Given the description of an element on the screen output the (x, y) to click on. 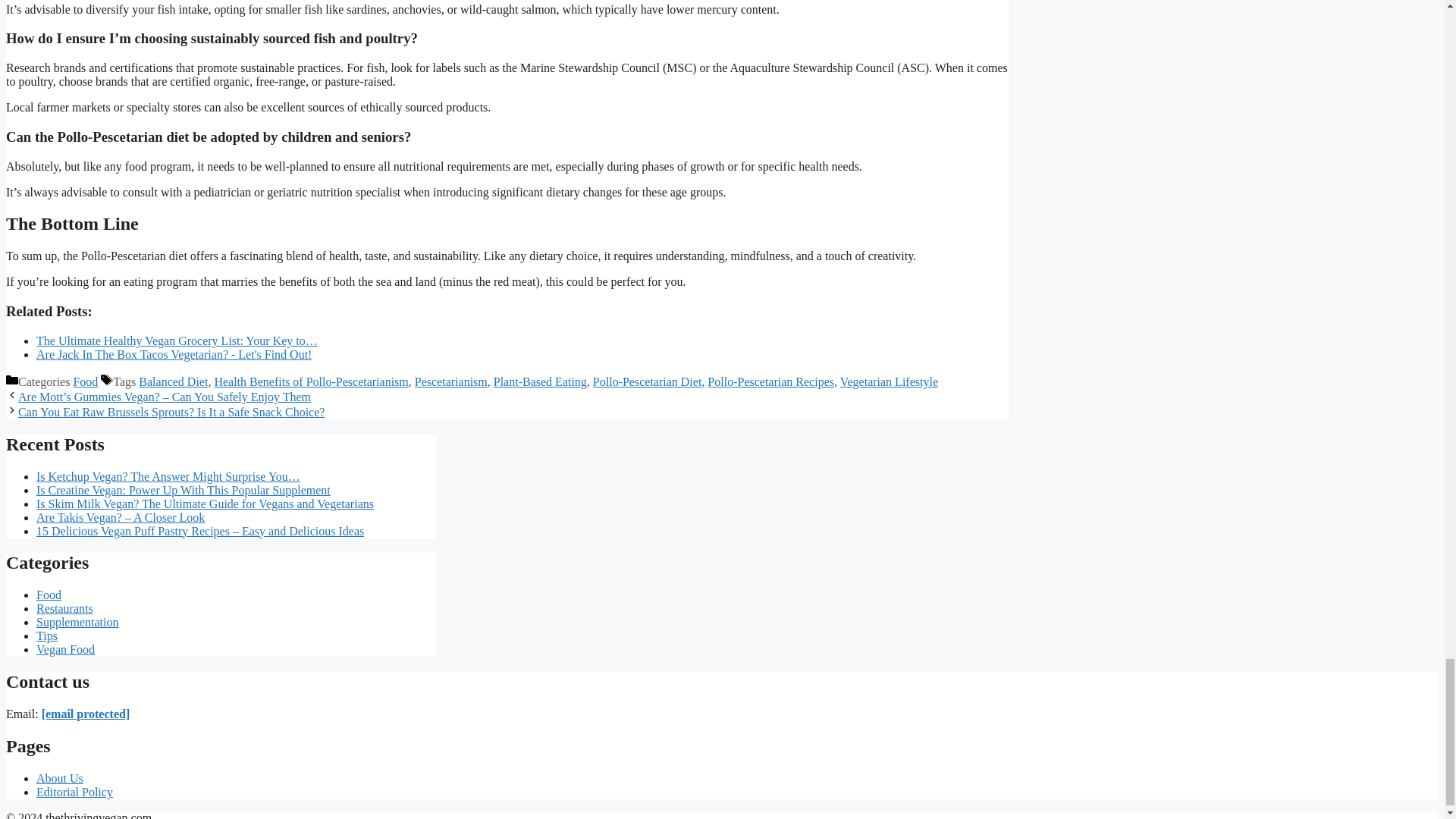
Supplementation (76, 621)
Tips (47, 635)
Health Benefits of Pollo-Pescetarianism (310, 381)
About Us (59, 778)
Pescetarianism (450, 381)
Balanced Diet (173, 381)
Is Creatine Vegan: Power Up With This Popular Supplement (183, 490)
Are Jack In The Box Tacos Vegetarian? - Let's Find Out! (173, 354)
Vegan Food (65, 649)
Pollo-Pescetarian Recipes (770, 381)
